Given the description of an element on the screen output the (x, y) to click on. 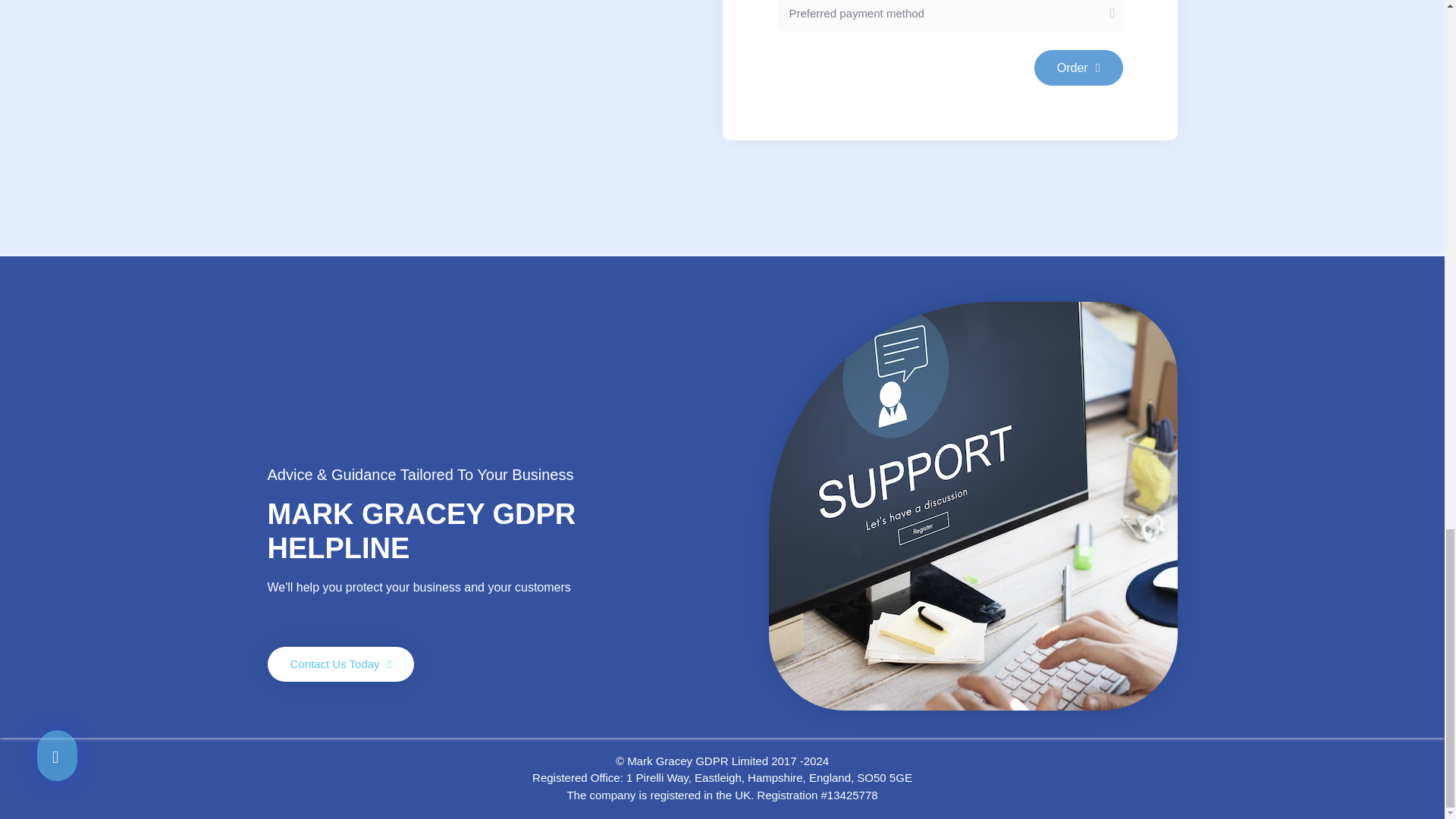
Scroll back to top (1406, 13)
